Given the description of an element on the screen output the (x, y) to click on. 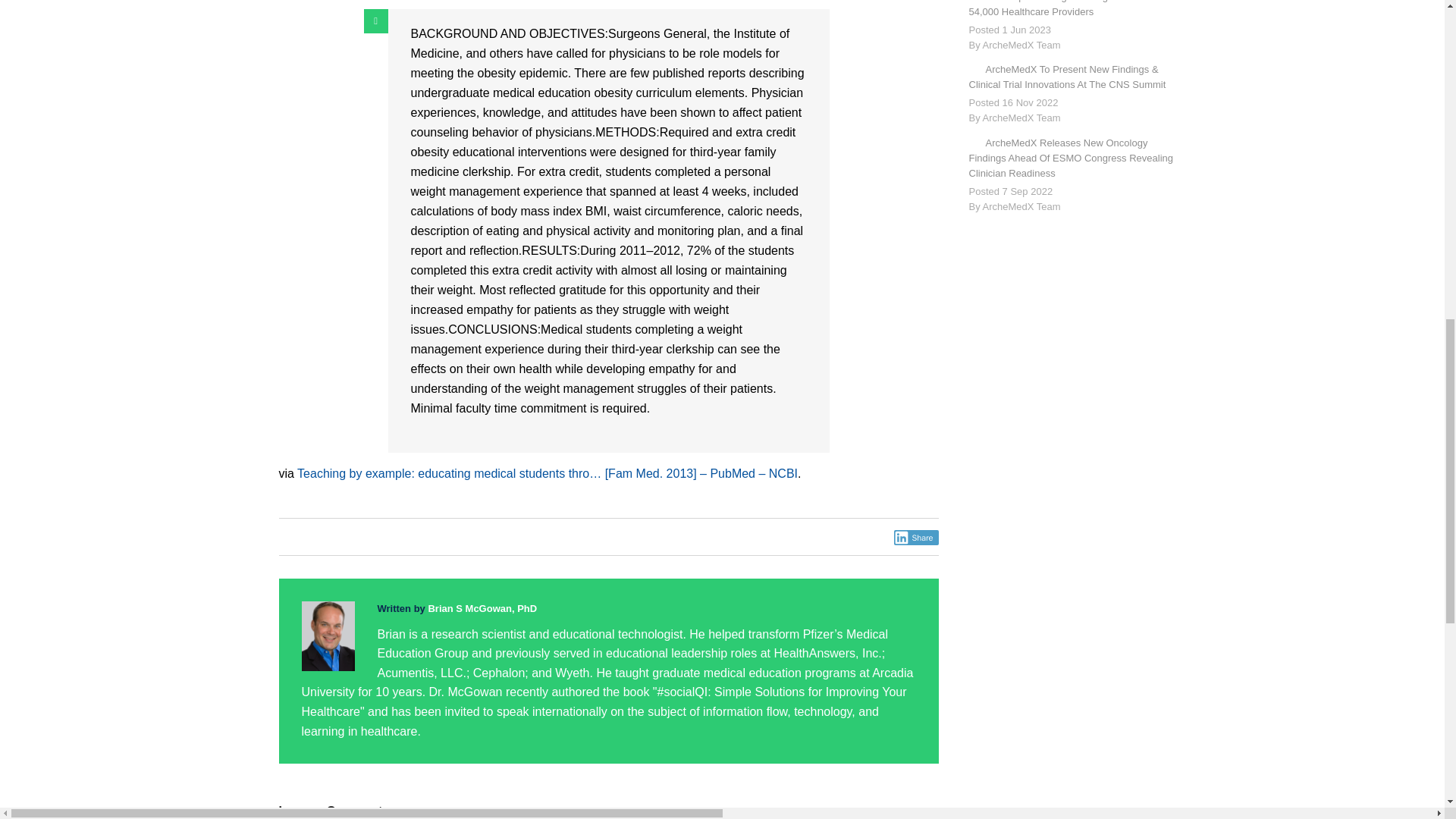
Brian S McGowan, PhD (482, 608)
Posts by Brian S McGowan, PhD (482, 608)
Share (916, 537)
